Given the description of an element on the screen output the (x, y) to click on. 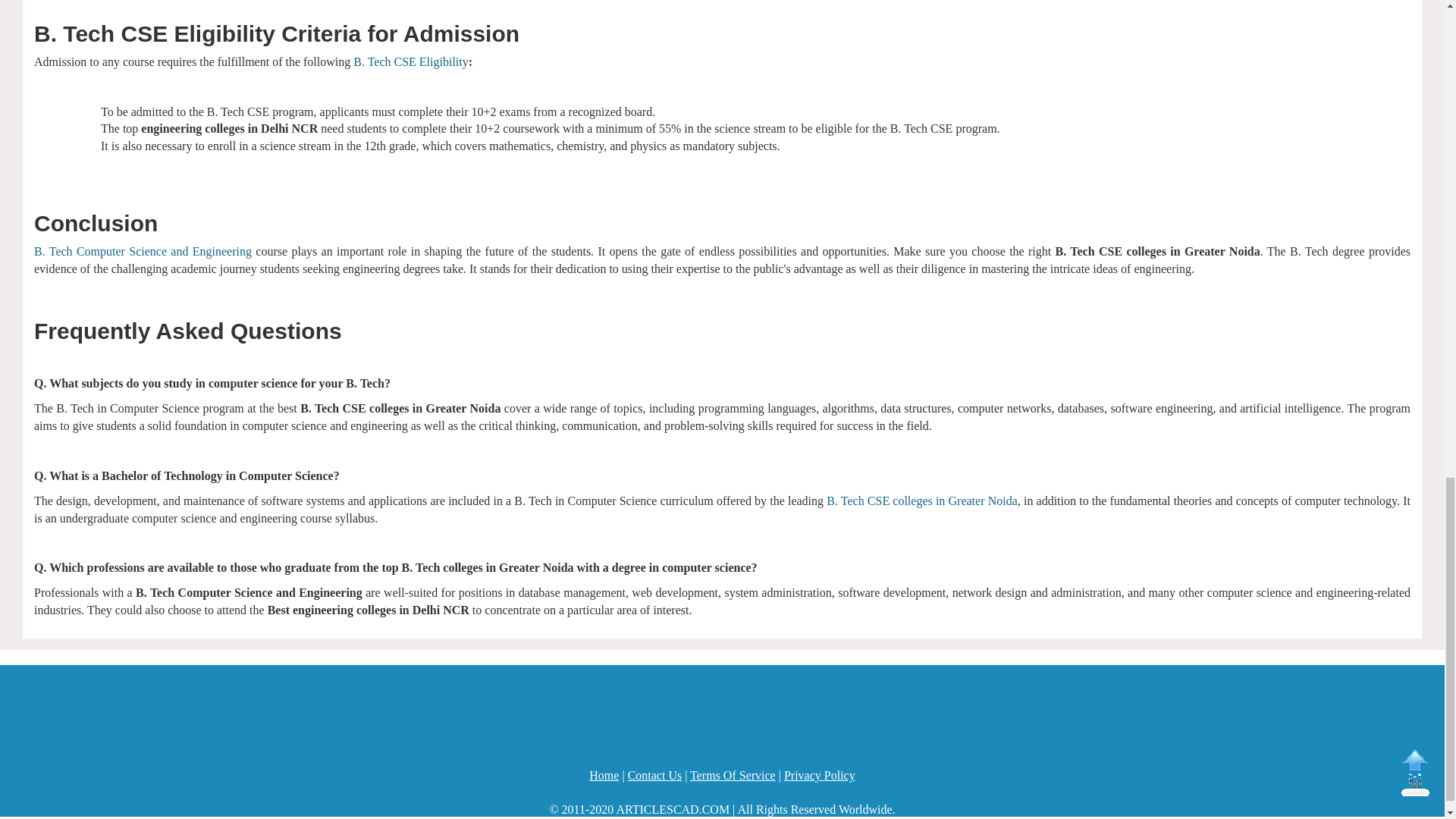
B. Tech CSE colleges in Greater Noida (922, 500)
B. Tech Computer Science and Engineering (142, 250)
Home (603, 775)
Privacy Policy (820, 775)
Contact Us (654, 775)
B. Tech CSE Eligibility (410, 61)
Terms Of Service (733, 775)
